Given the description of an element on the screen output the (x, y) to click on. 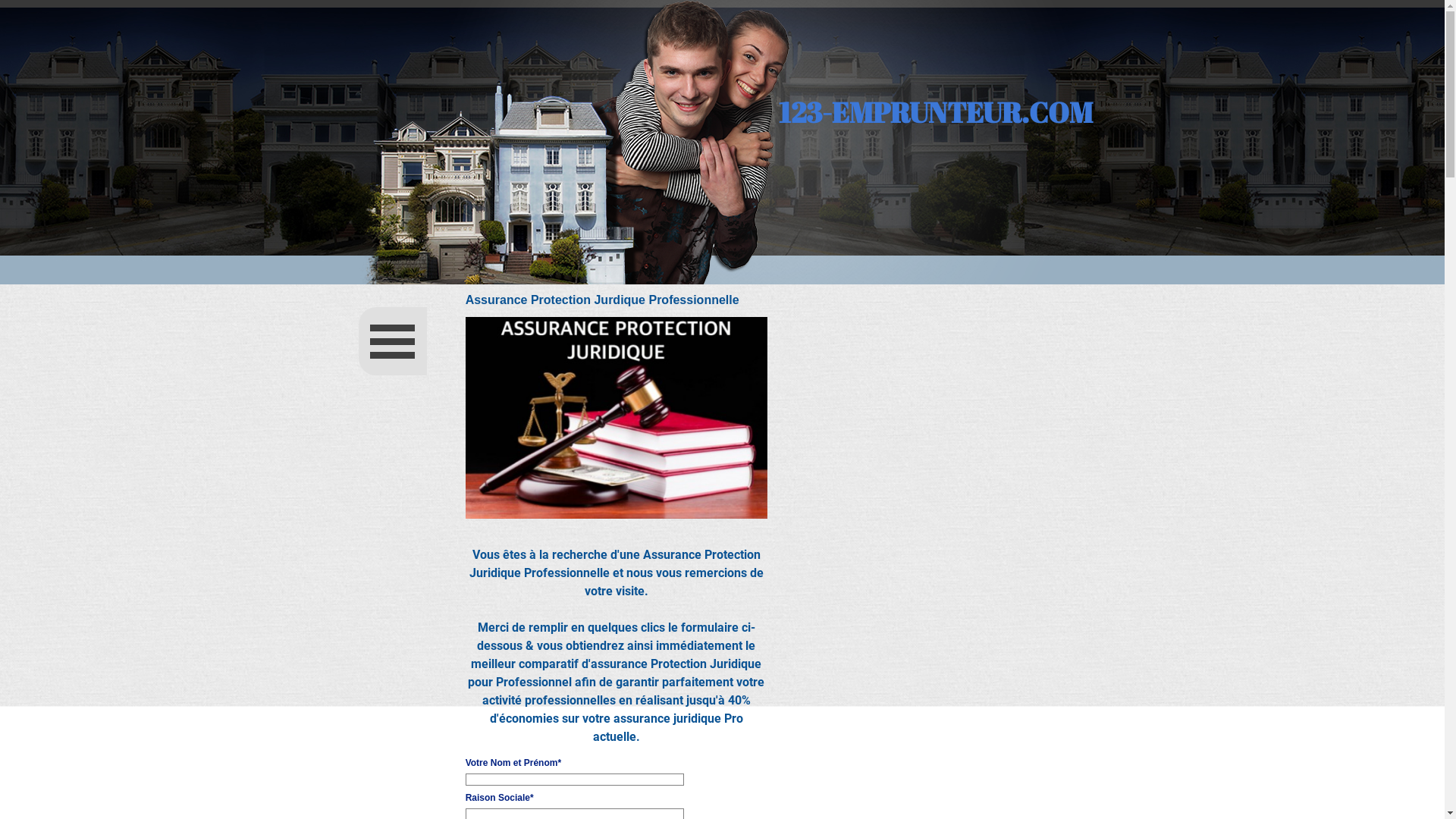
DEVIS ASSURANCE JURIDIQUE PROFESSIONNELLE Element type: hover (616, 417)
